Given the description of an element on the screen output the (x, y) to click on. 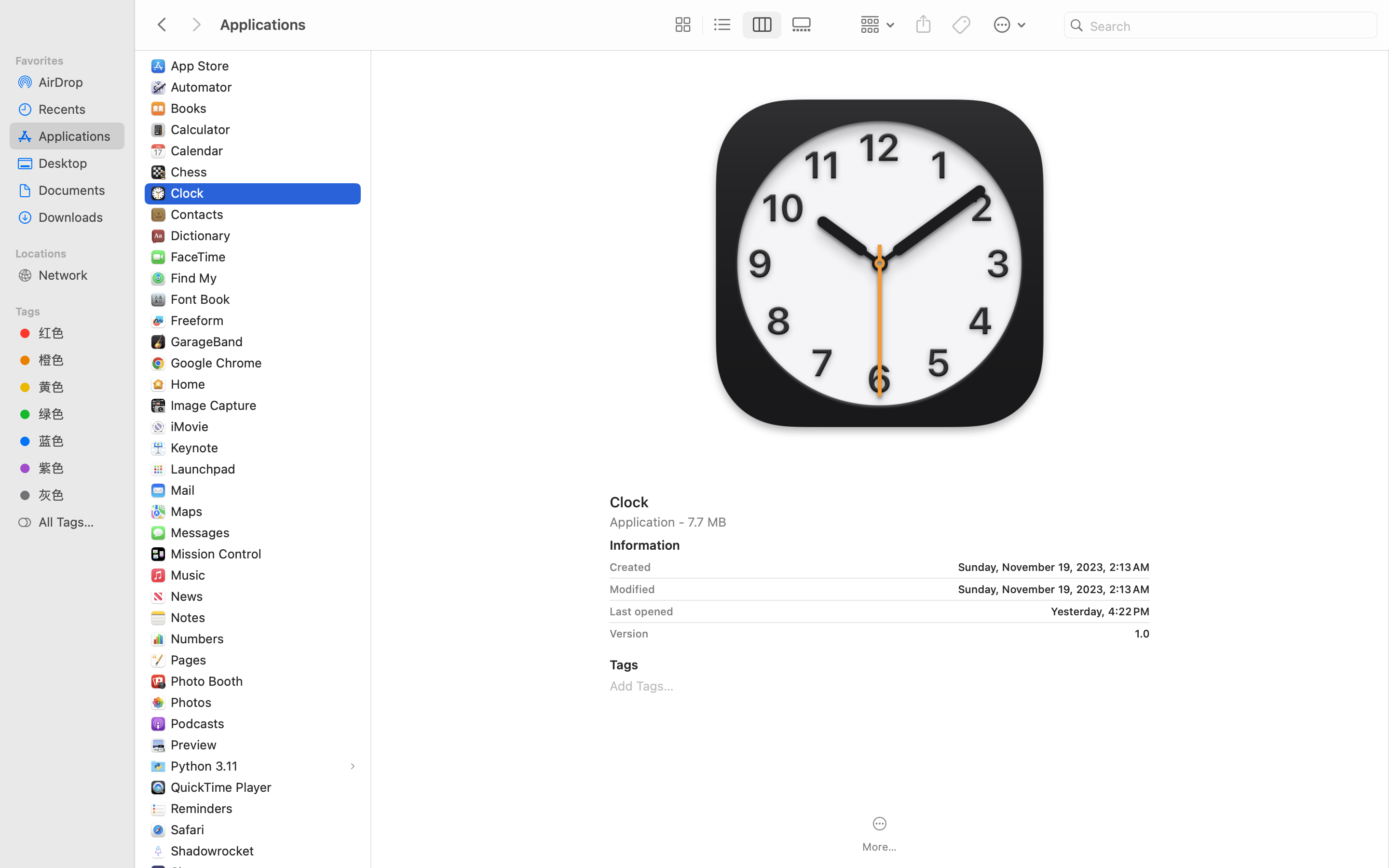
Mission Control Element type: AXTextField (218, 553)
QuickTime Player Element type: AXTextField (222, 786)
绿色 Element type: AXStaticText (77, 413)
GarageBand Element type: AXTextField (208, 341)
Tags Element type: AXStaticText (72, 309)
